Given the description of an element on the screen output the (x, y) to click on. 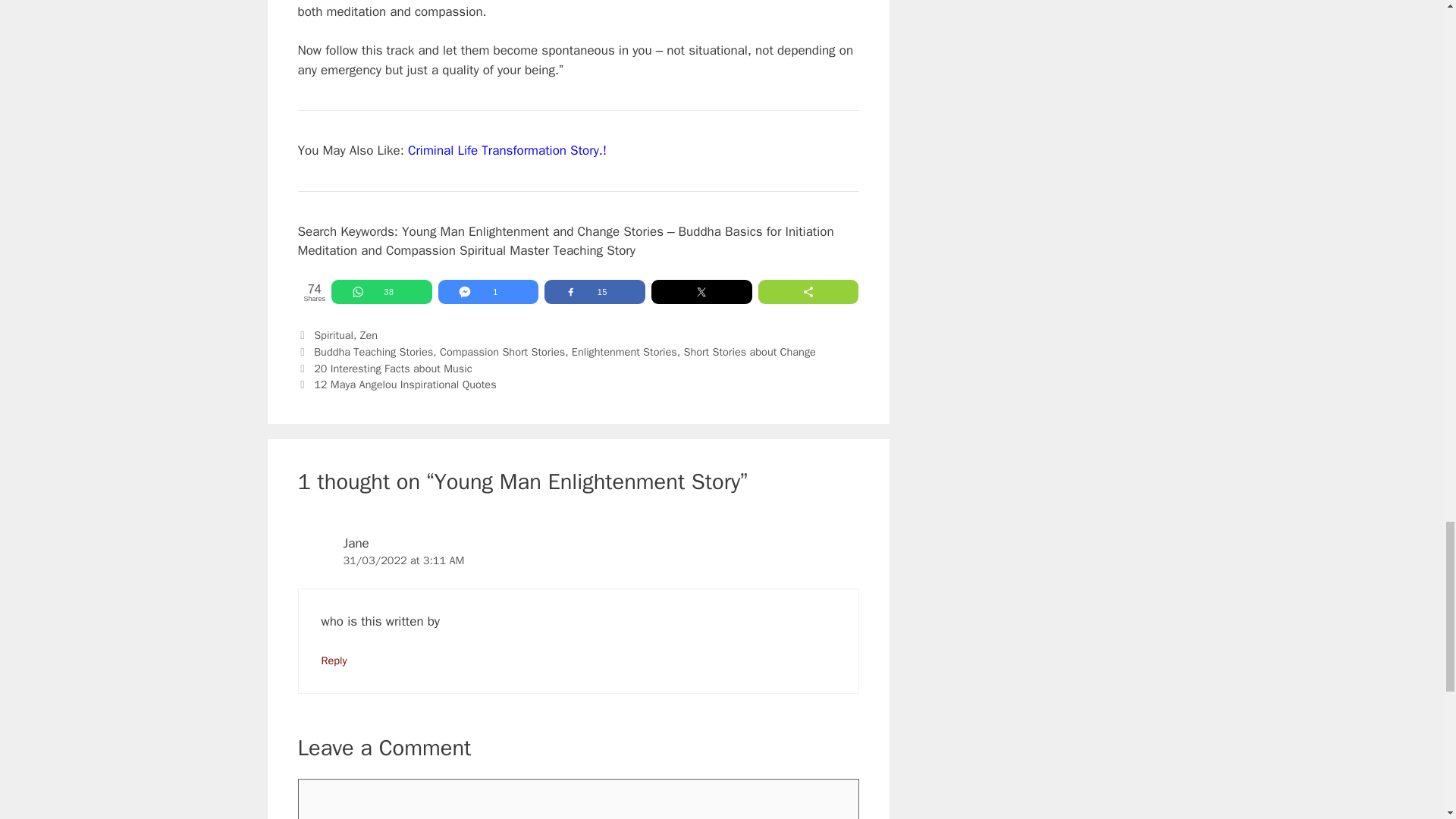
Zen (368, 335)
Spiritual (333, 335)
Buddha Teaching Stories (373, 351)
Reply (334, 660)
20 Interesting Facts about Music (392, 368)
Criminal Life Transformation Story.! (507, 150)
12 Maya Angelou Inspirational Quotes (405, 384)
Short Stories about Change (748, 351)
Enlightenment Stories (624, 351)
Compassion Short Stories (501, 351)
